Given the description of an element on the screen output the (x, y) to click on. 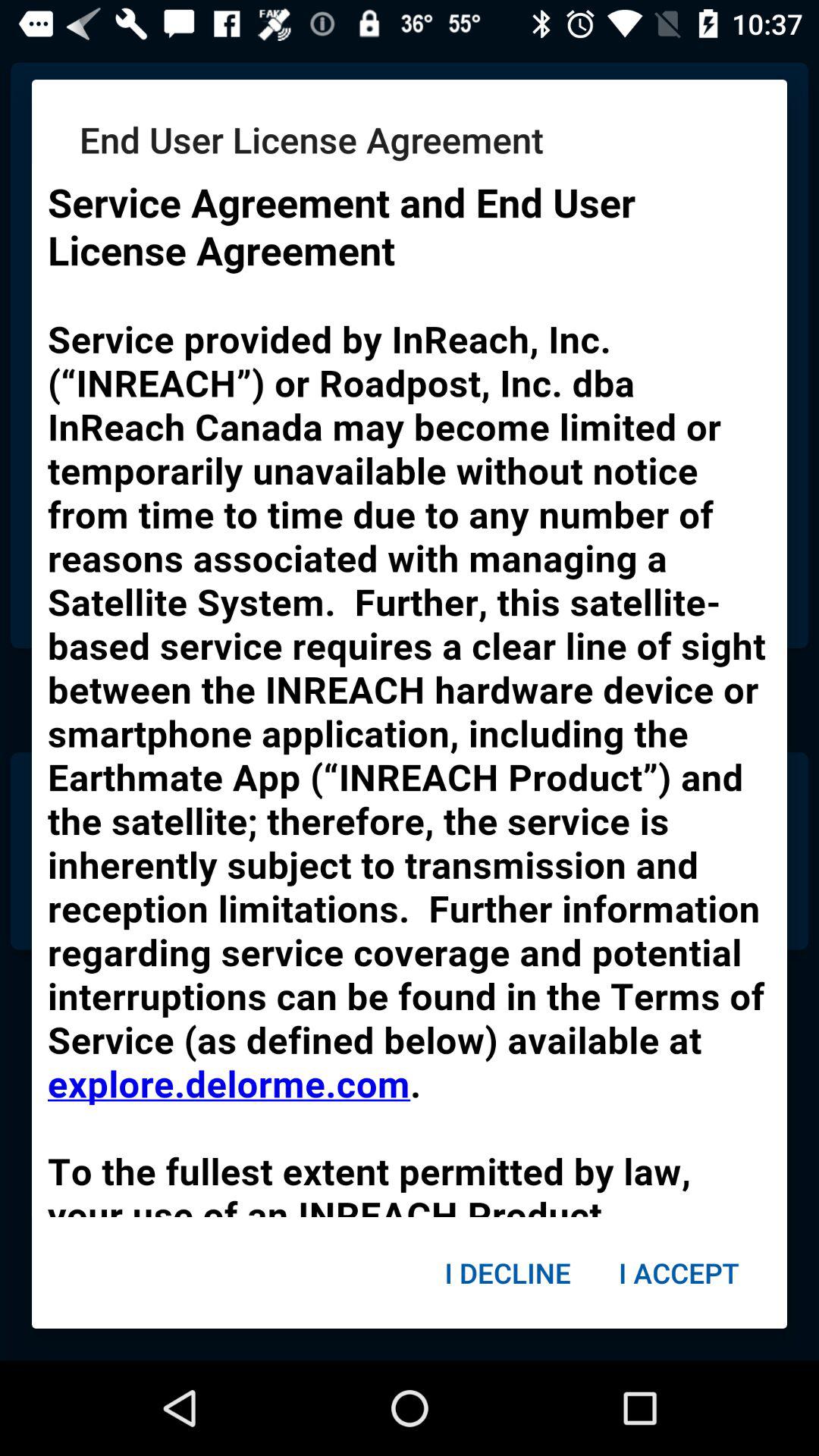
scrollable page (409, 690)
